Given the description of an element on the screen output the (x, y) to click on. 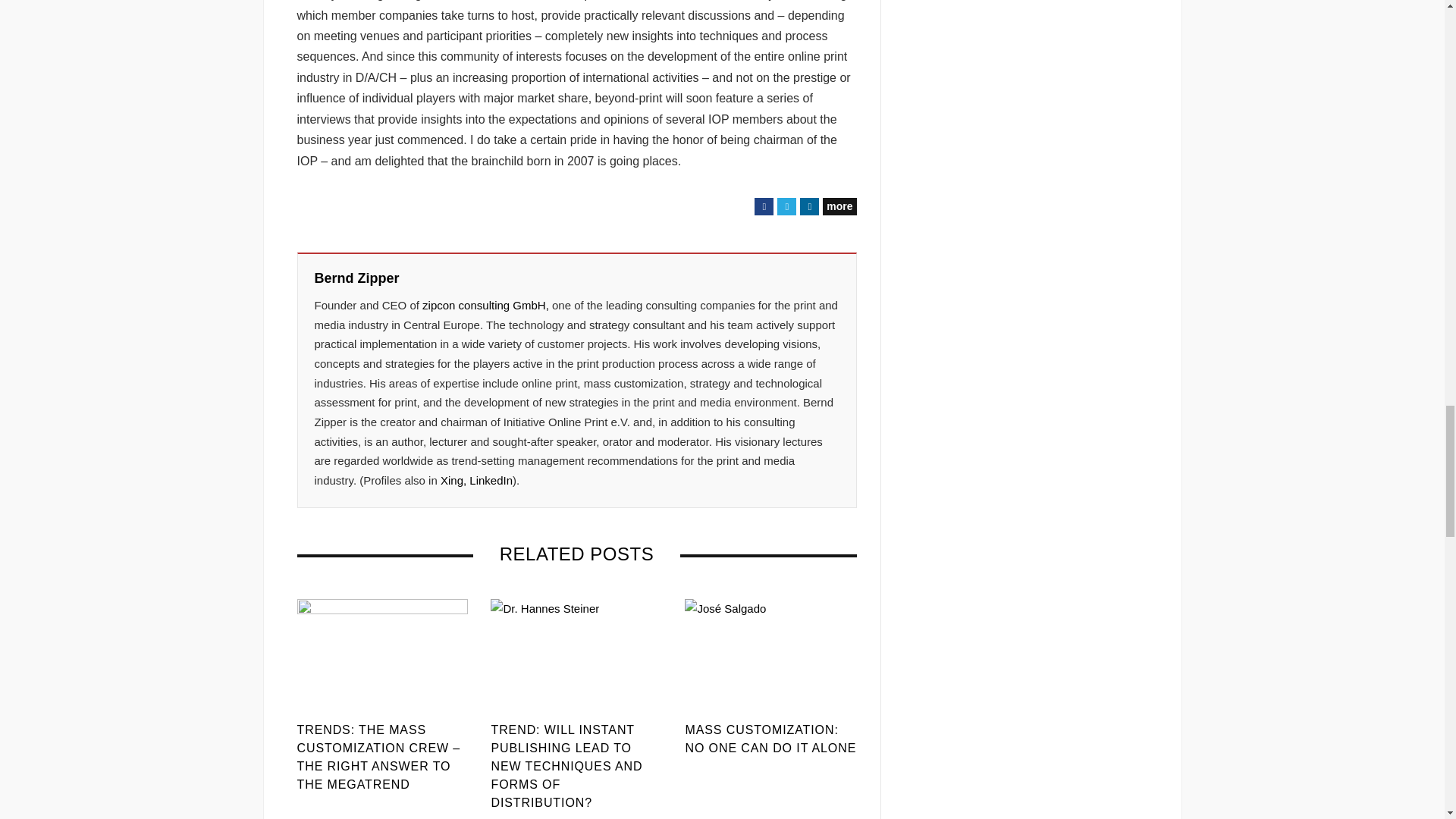
Twitter (786, 206)
Posts by Bernd Zipper (356, 278)
Share on Facebook (763, 206)
Tweet It (786, 206)
LinkedIn (490, 480)
Share on LinkedIn (808, 206)
MASS CUSTOMIZATION: NO ONE CAN DO IT ALONE (770, 739)
Bernd Zipper (356, 278)
Facebook (763, 206)
